Given the description of an element on the screen output the (x, y) to click on. 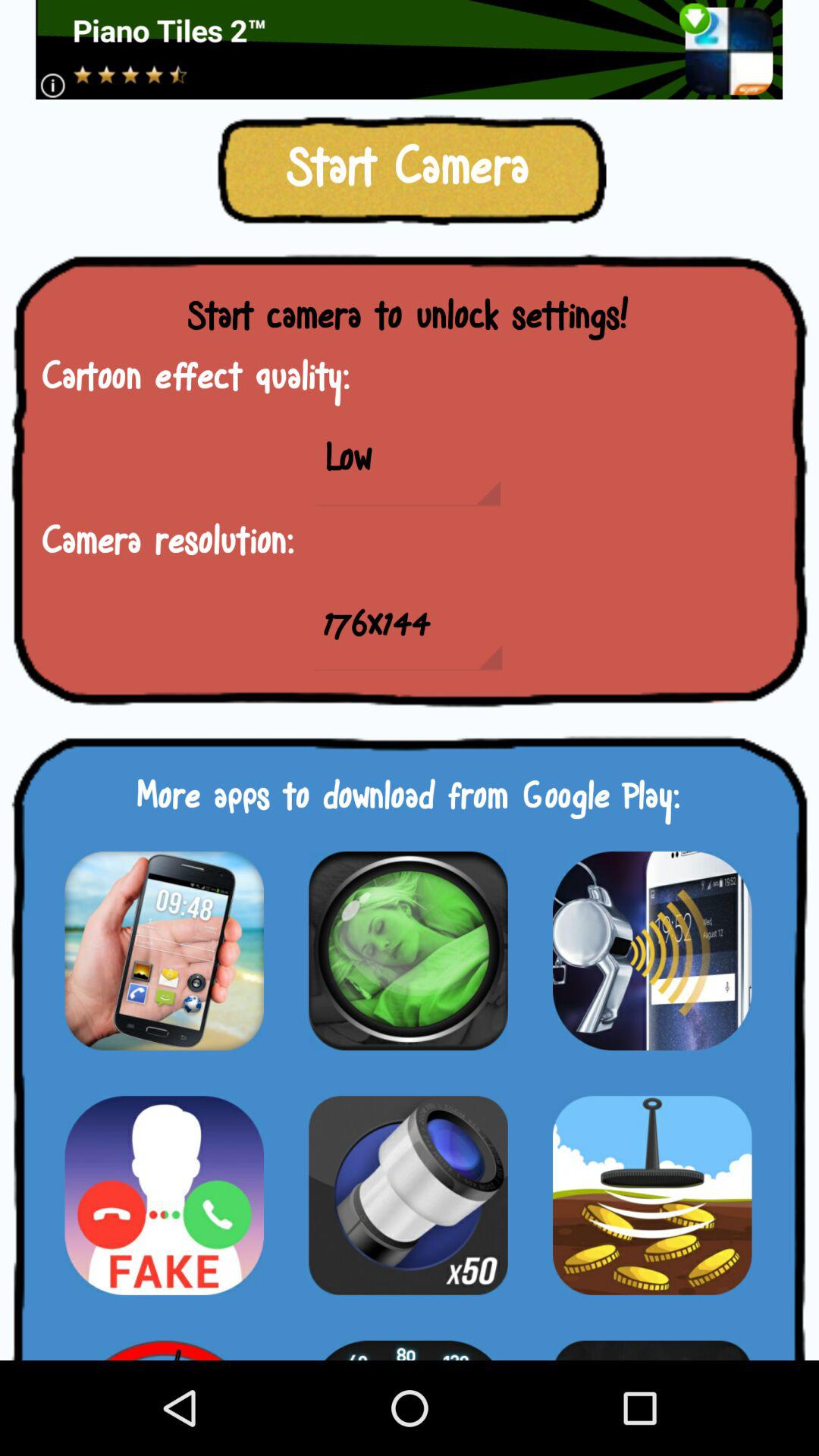
shoiws one of the option (164, 1340)
